Given the description of an element on the screen output the (x, y) to click on. 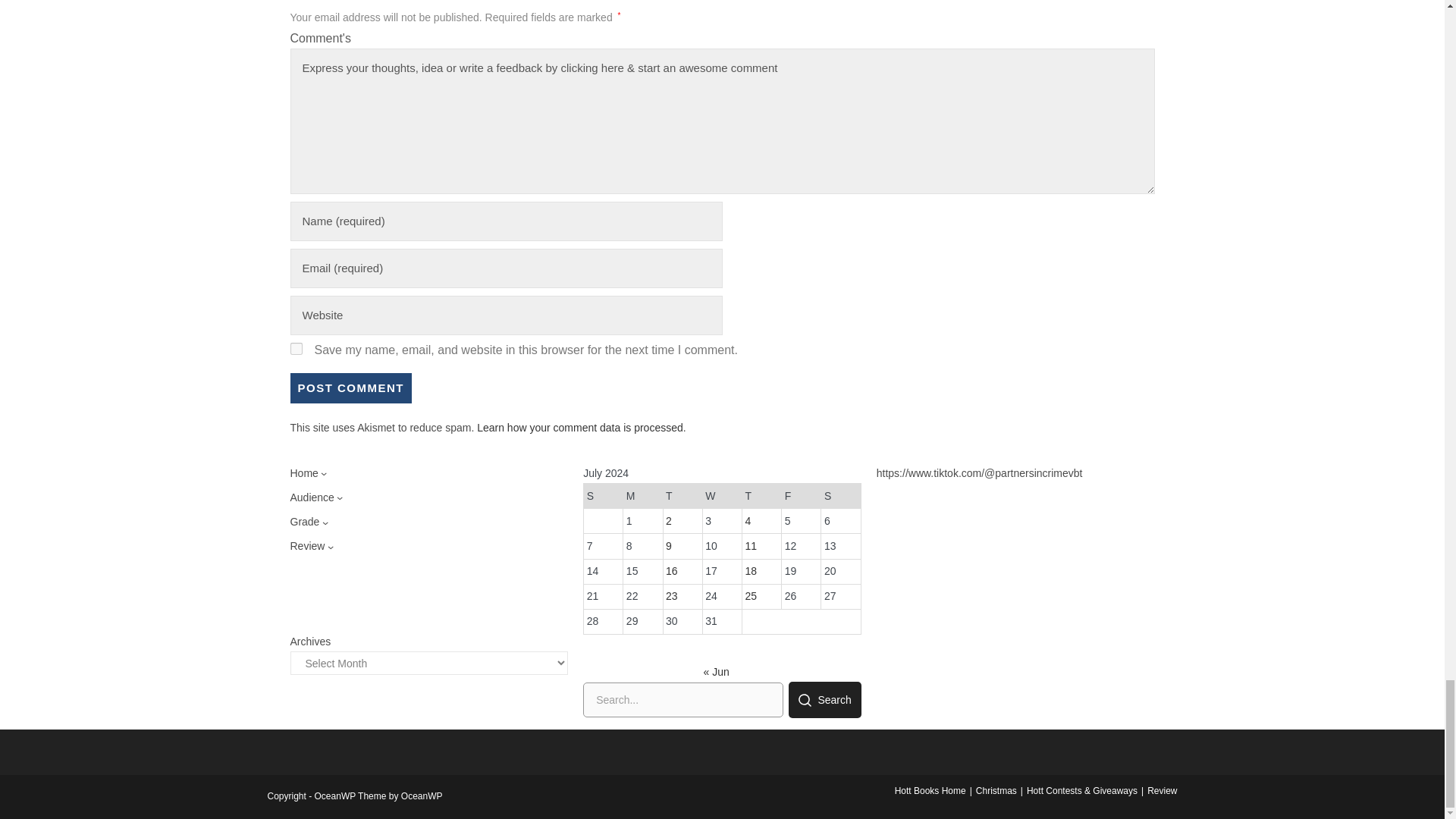
Post Comment (350, 388)
Friday (801, 496)
Sunday (603, 496)
Wednesday (721, 496)
Thursday (760, 496)
Monday (642, 496)
Tuesday (681, 496)
yes (295, 348)
Saturday (840, 496)
